Given the description of an element on the screen output the (x, y) to click on. 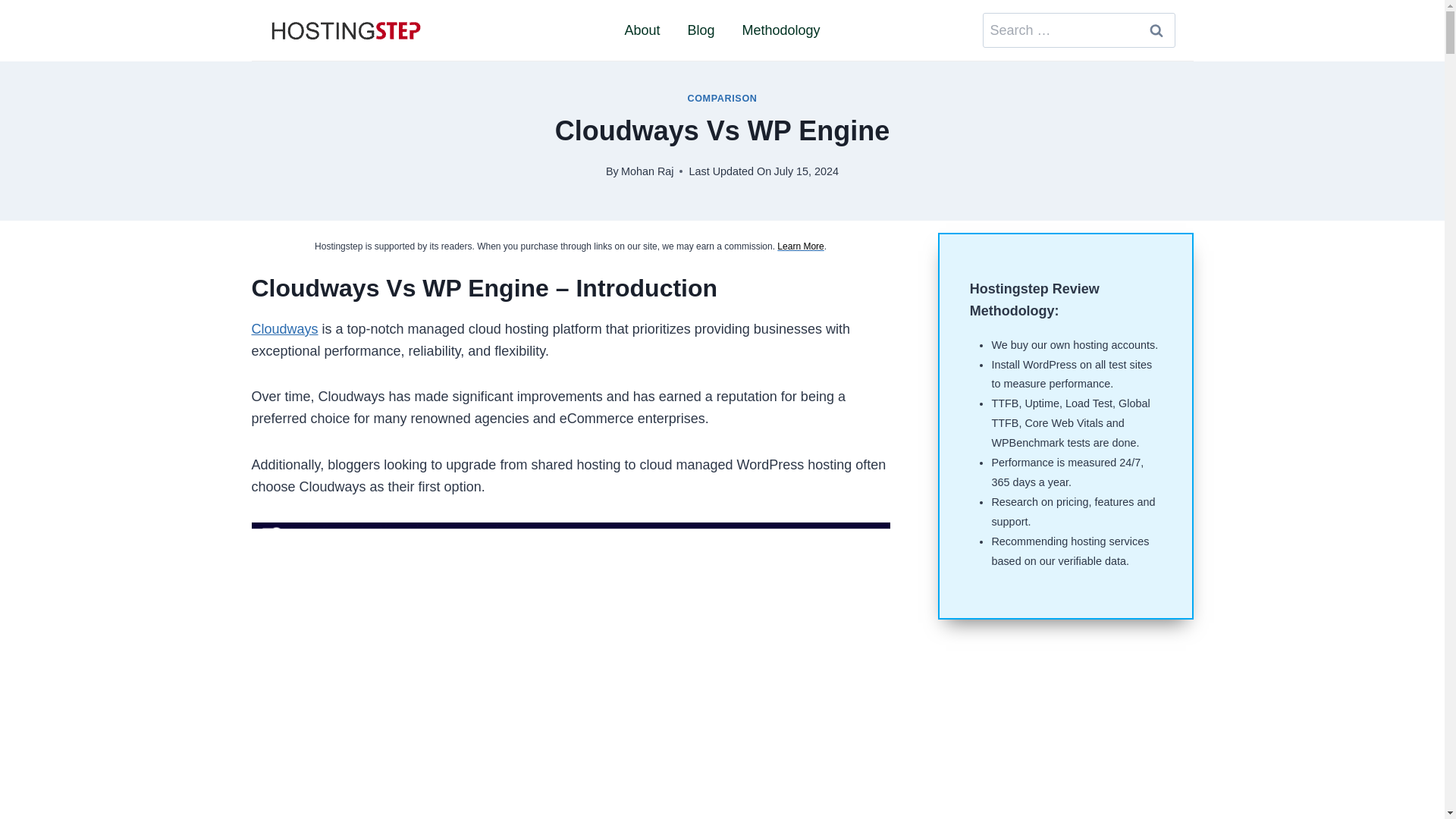
Cloudways (284, 328)
Blog (700, 30)
Mohan Raj (647, 171)
About (641, 30)
COMPARISON (722, 98)
Search (1155, 29)
Methodology (780, 30)
Learn More (800, 245)
Search (1155, 29)
Search (1155, 29)
